Given the description of an element on the screen output the (x, y) to click on. 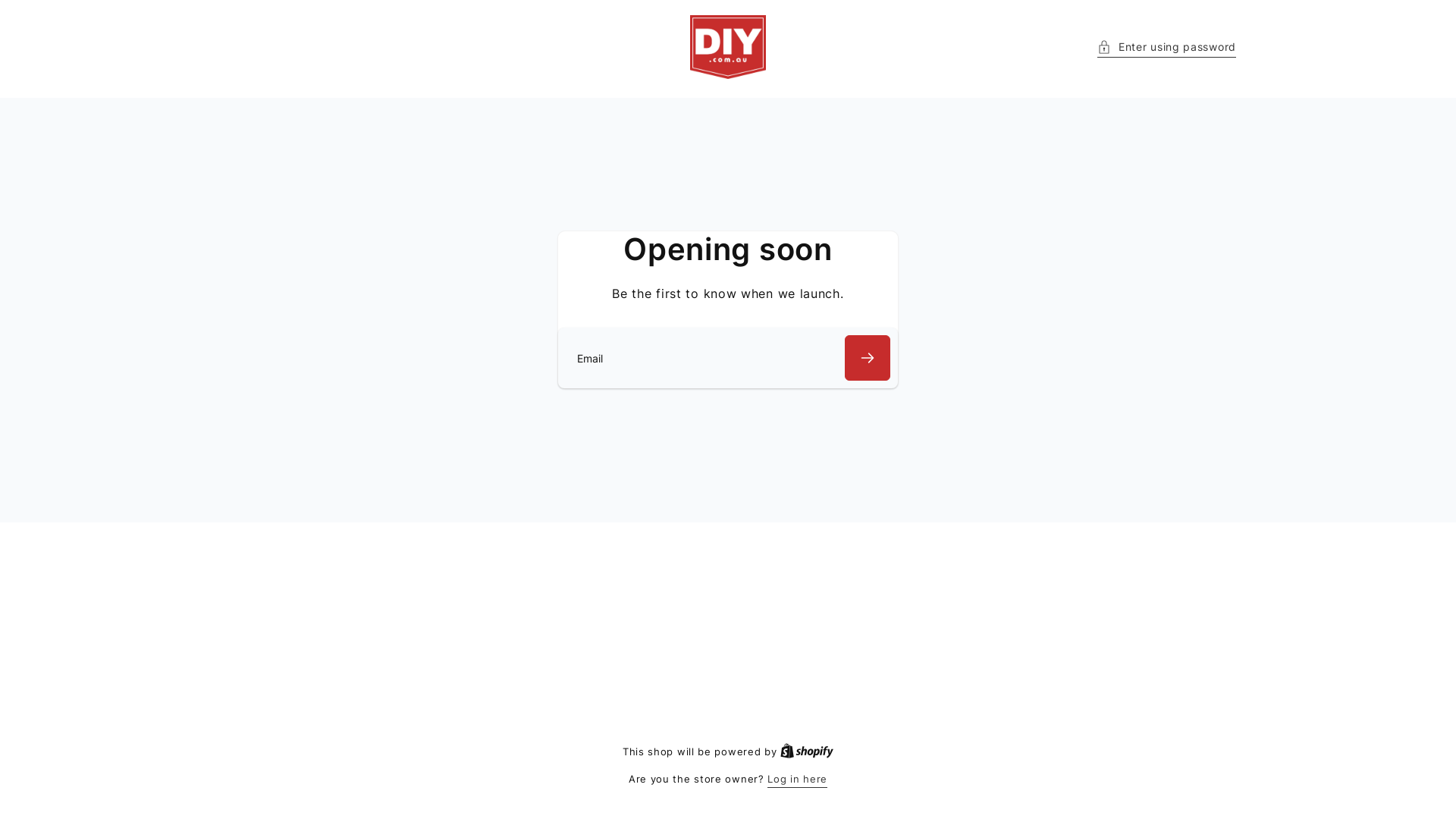
Log in here Element type: text (797, 779)
